Given the description of an element on the screen output the (x, y) to click on. 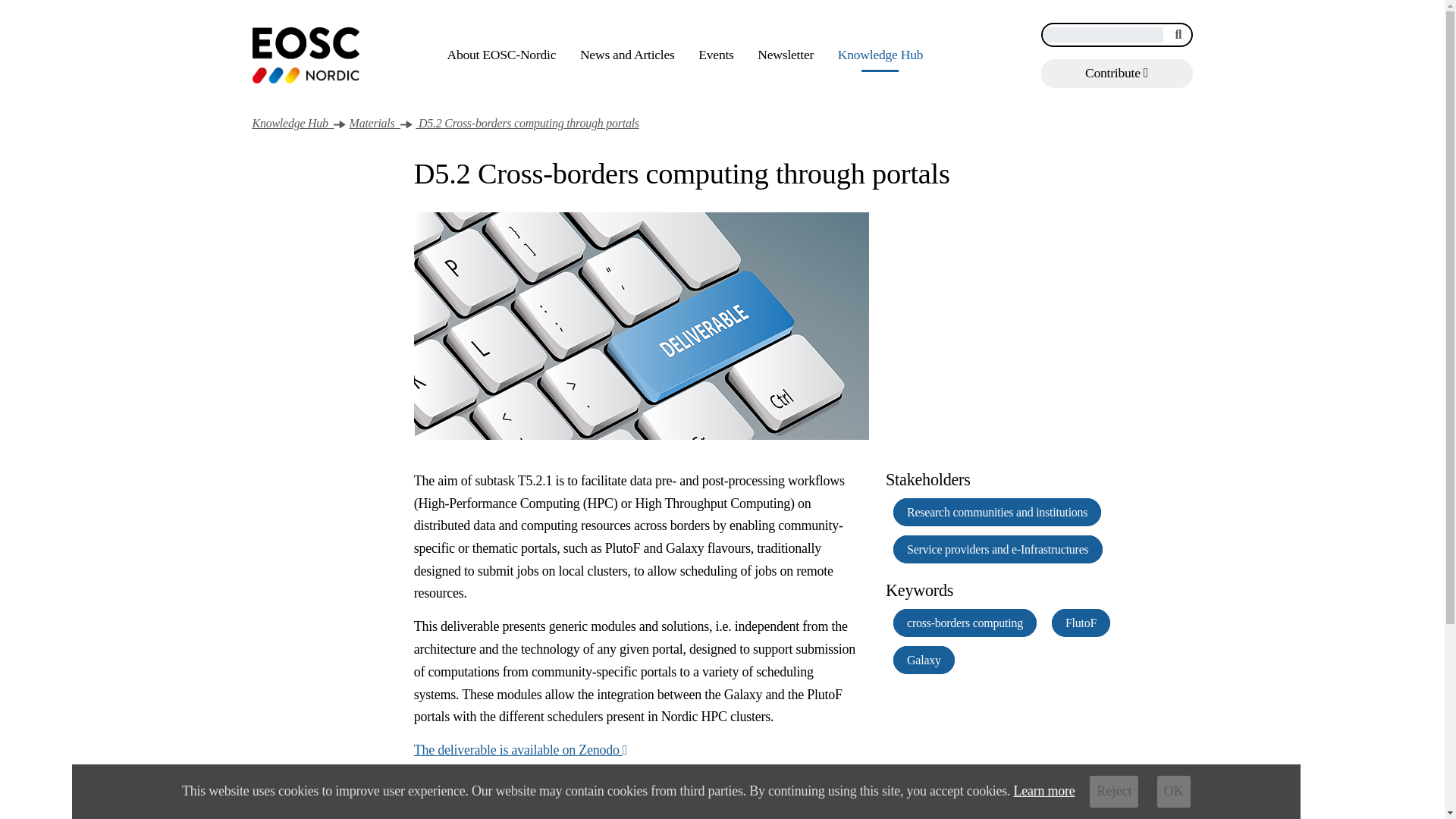
Contribute (1116, 72)
 D5.2 Cross-borders computing through portals (526, 123)
News and Articles (627, 54)
Service providers and e-Infrastructures (997, 549)
cross-borders computing (964, 623)
The deliverable is available on Zenodo (520, 749)
Events (716, 54)
Materials   (374, 123)
Newsletter (786, 54)
Knowledge Hub   (292, 123)
